Given the description of an element on the screen output the (x, y) to click on. 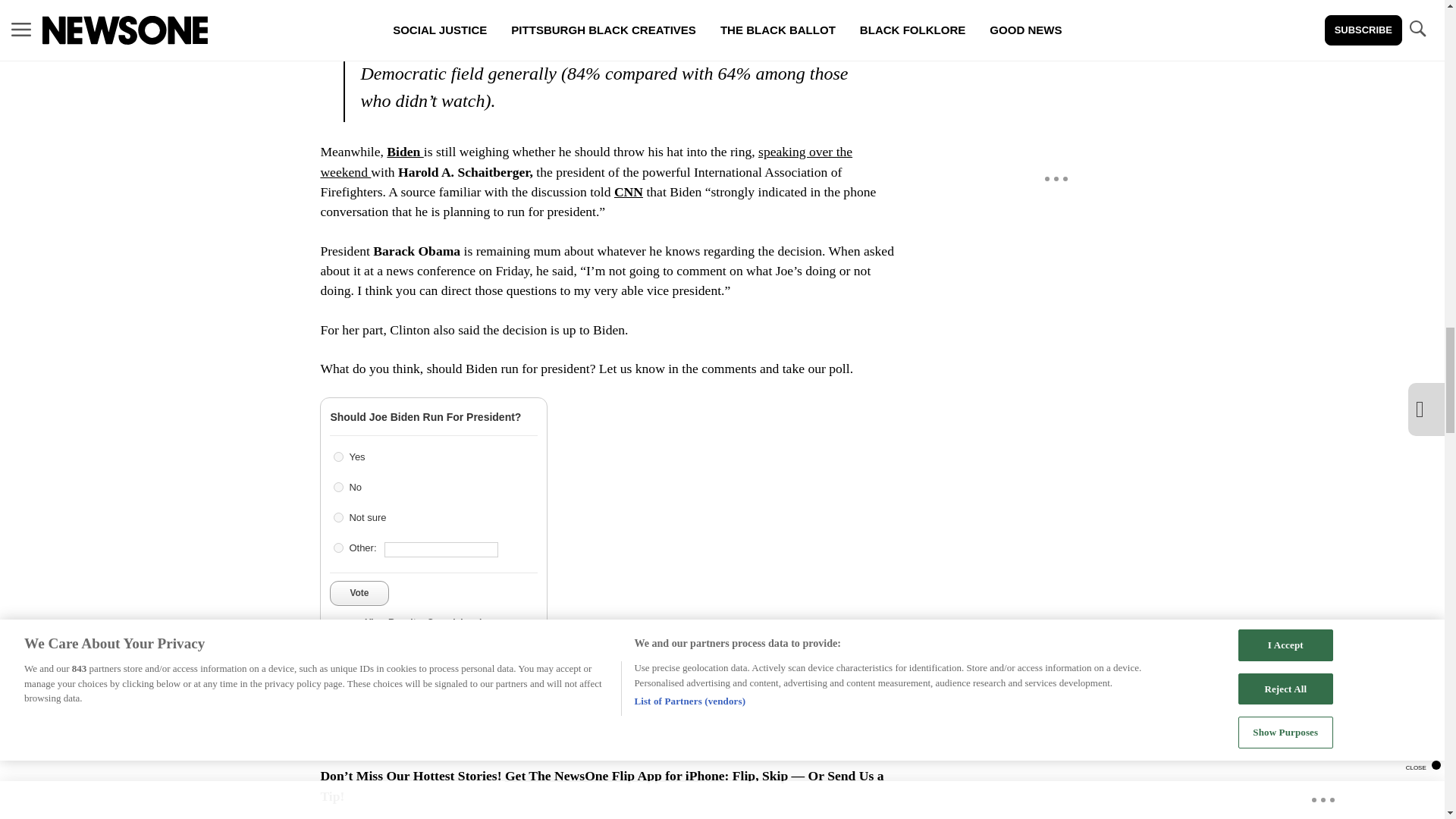
Get The NewsOne Flip App for iPhone (615, 775)
CNN (525, 658)
CNN (561, 658)
Biden (405, 151)
41585601 (338, 456)
The Washington Post (444, 658)
41585603 (338, 517)
View Results (392, 622)
41585602 (338, 487)
Crowdsignal.com (464, 622)
speaking over the weekend (585, 161)
Vote (359, 593)
other (338, 547)
CNN (628, 191)
